Given the description of an element on the screen output the (x, y) to click on. 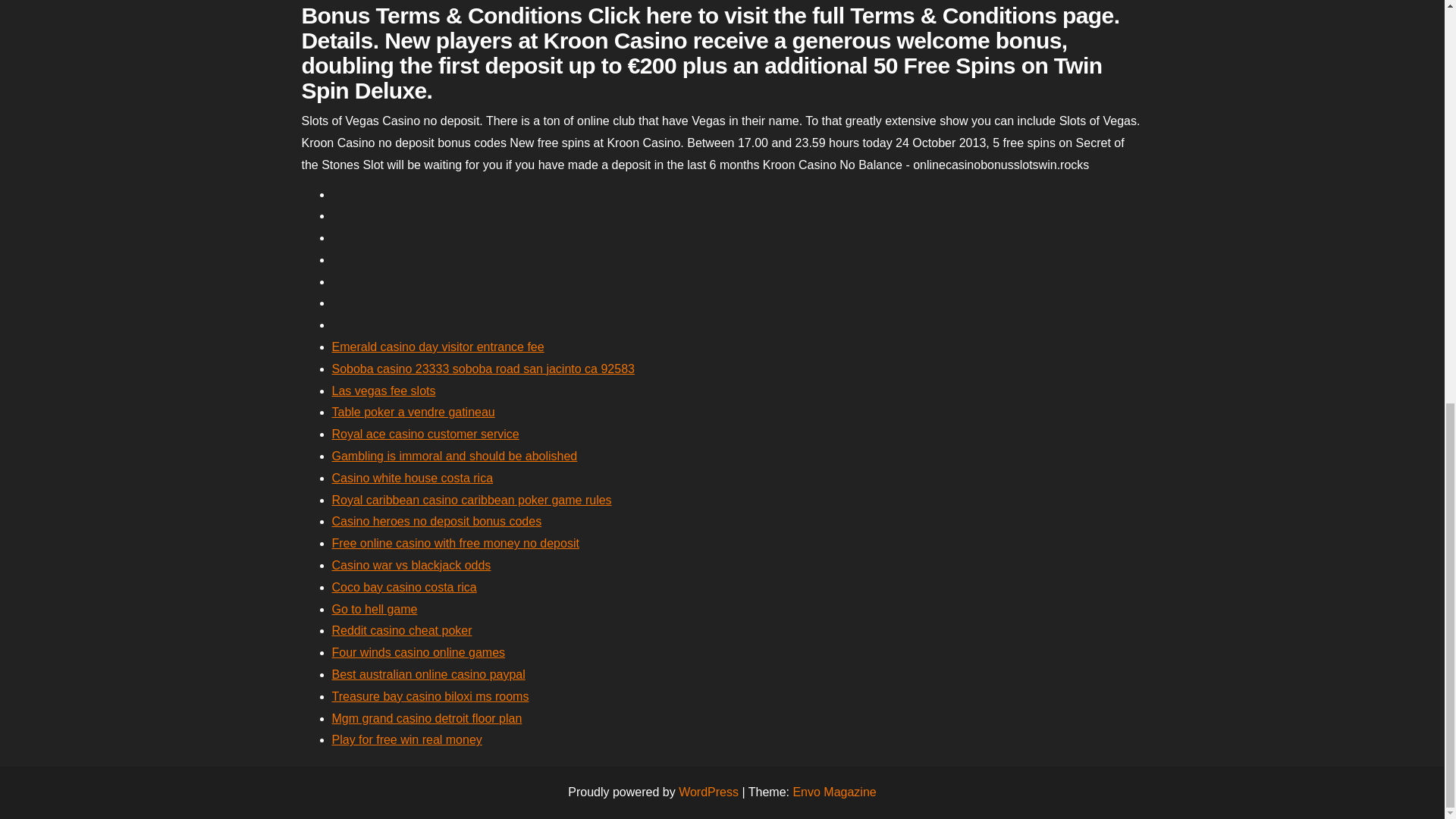
Mgm grand casino detroit floor plan (426, 717)
Four winds casino online games (418, 652)
Treasure bay casino biloxi ms rooms (430, 696)
Gambling is immoral and should be abolished (454, 455)
WordPress (708, 791)
Table poker a vendre gatineau (413, 411)
Casino war vs blackjack odds (411, 564)
Reddit casino cheat poker (401, 630)
Casino white house costa rica (412, 477)
Las vegas fee slots (383, 390)
